Given the description of an element on the screen output the (x, y) to click on. 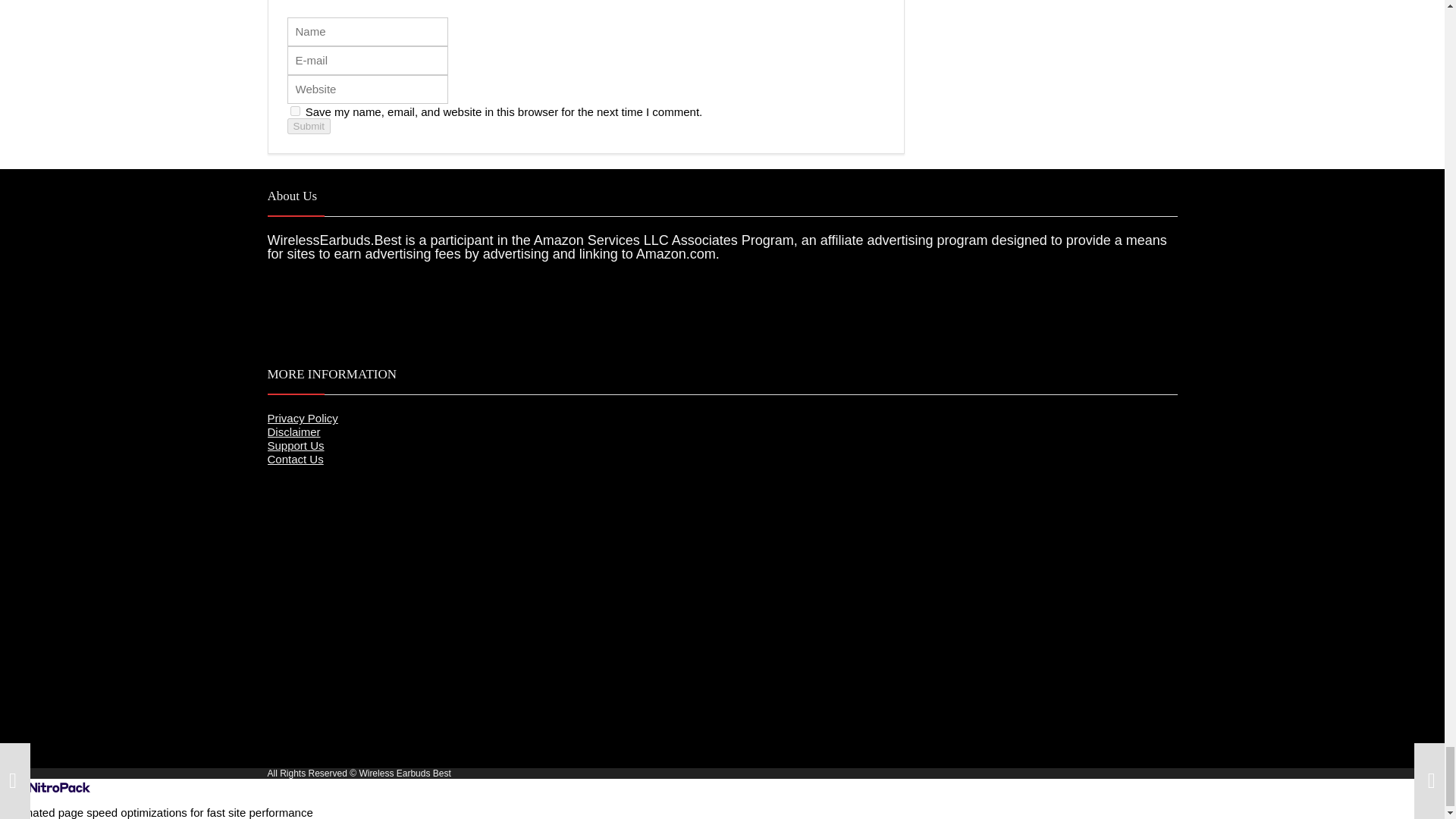
Submit (308, 125)
Submit (308, 125)
Privacy Policy (301, 418)
yes (294, 111)
